Given the description of an element on the screen output the (x, y) to click on. 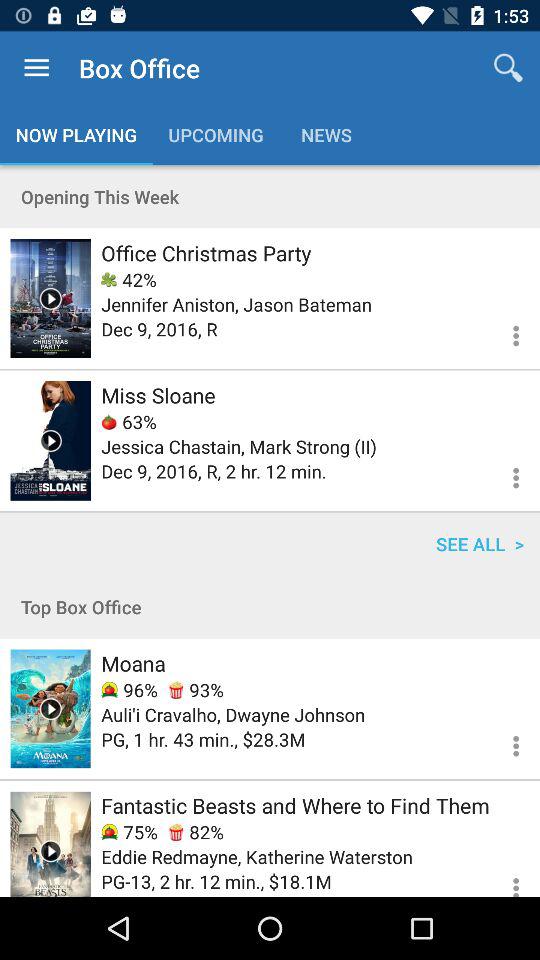
movie options (503, 475)
